Given the description of an element on the screen output the (x, y) to click on. 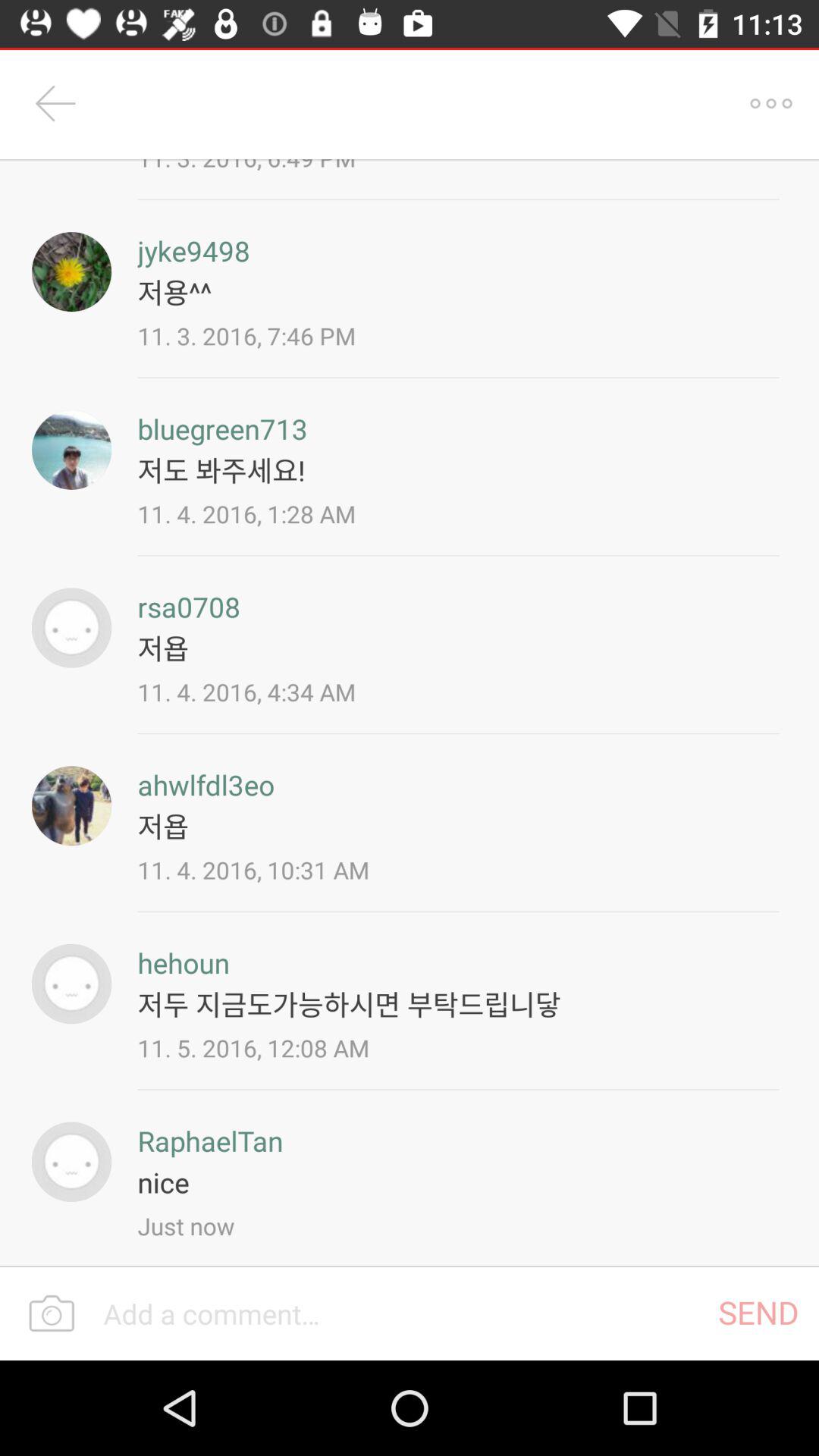
turn off ahwlfdl3eo item (205, 784)
